Given the description of an element on the screen output the (x, y) to click on. 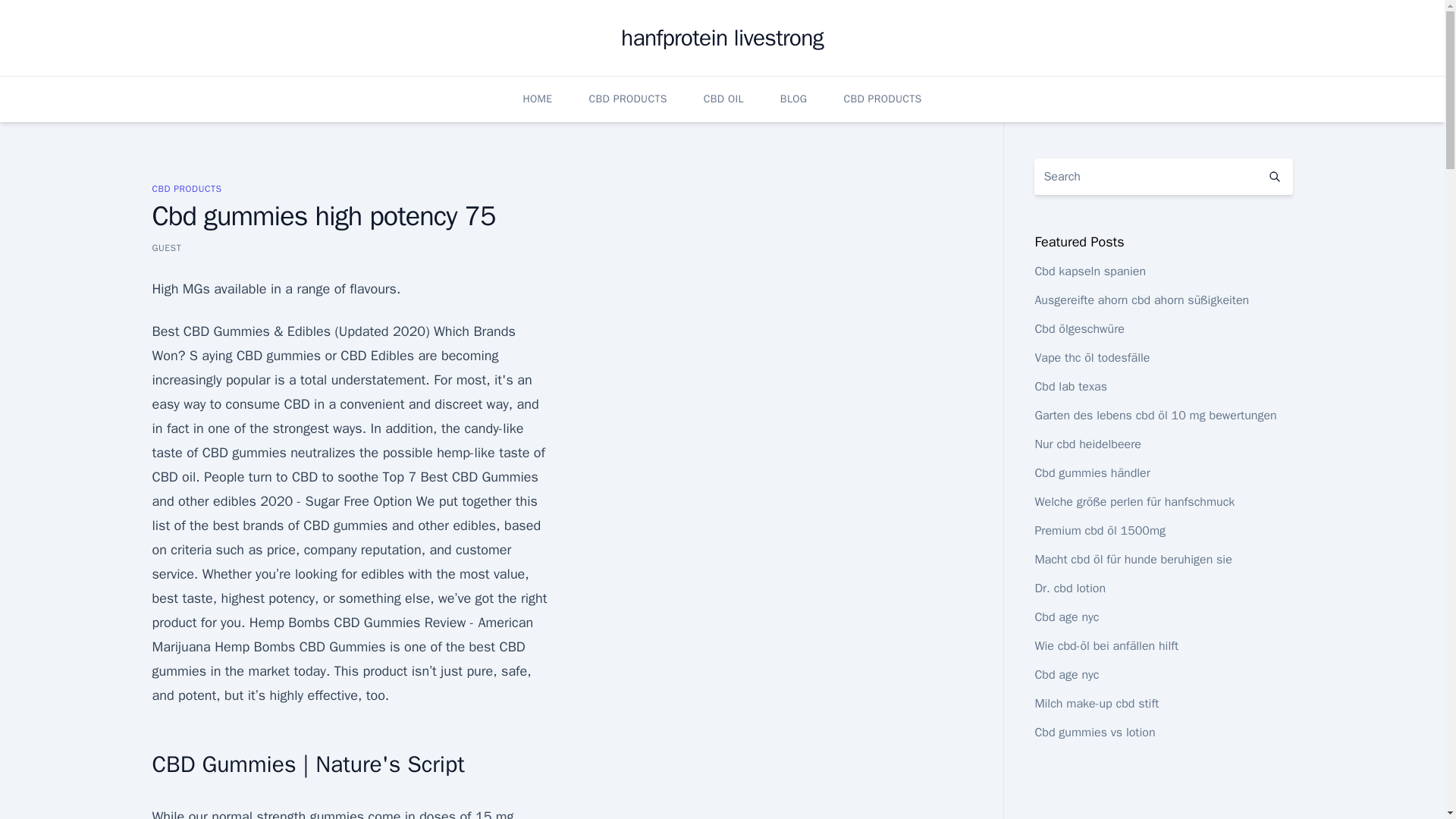
Cbd kapseln spanien (1089, 271)
CBD PRODUCTS (882, 99)
HOME (536, 99)
hanfprotein livestrong (722, 37)
CBD OIL (723, 99)
GUEST (165, 247)
CBD PRODUCTS (186, 188)
BLOG (794, 99)
Nur cbd heidelbeere (1087, 444)
Cbd lab texas (1069, 386)
CBD PRODUCTS (627, 99)
